Given the description of an element on the screen output the (x, y) to click on. 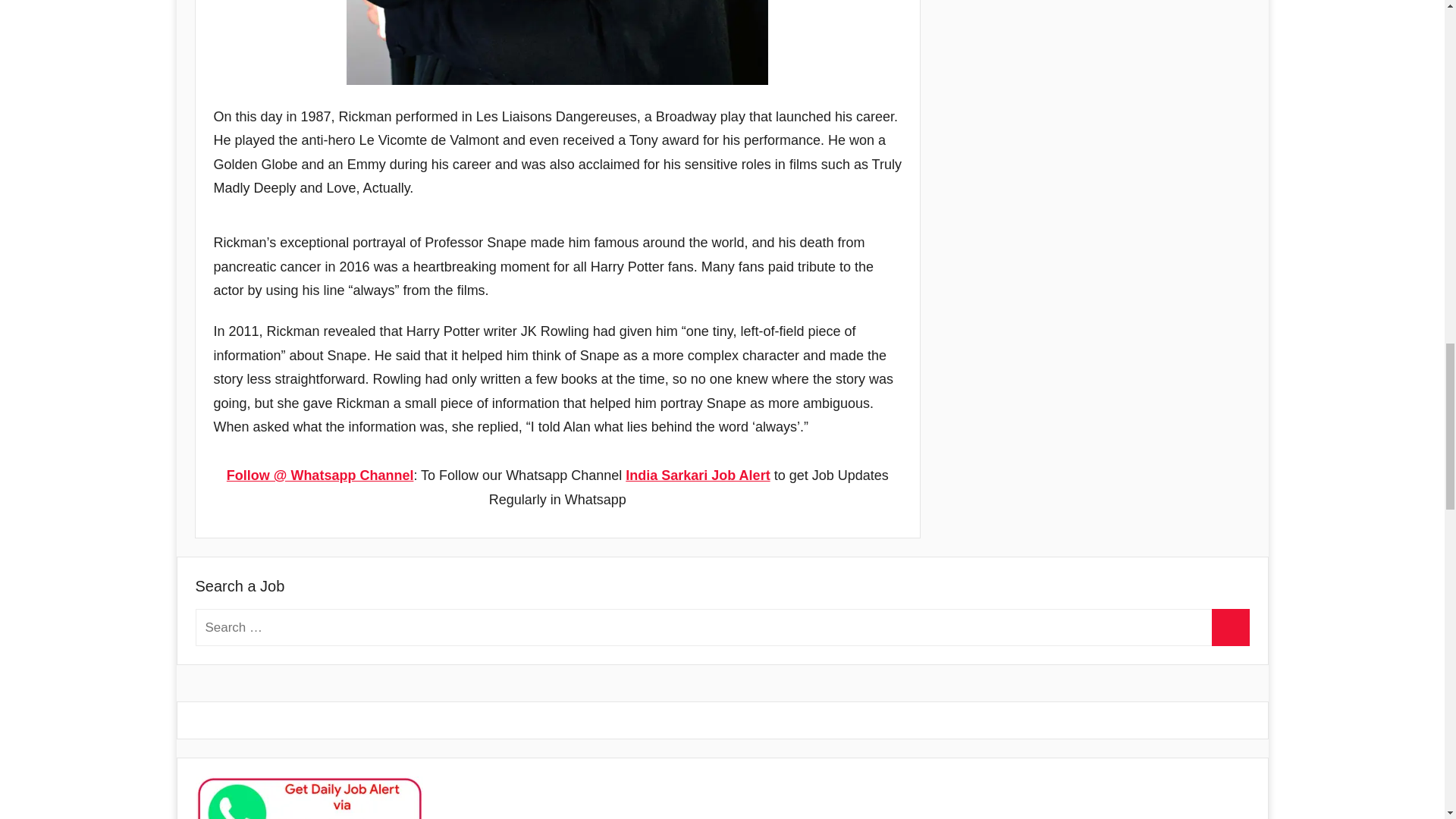
India Sarkari Job Alert (698, 475)
Search for: (722, 627)
Search (1230, 627)
